Given the description of an element on the screen output the (x, y) to click on. 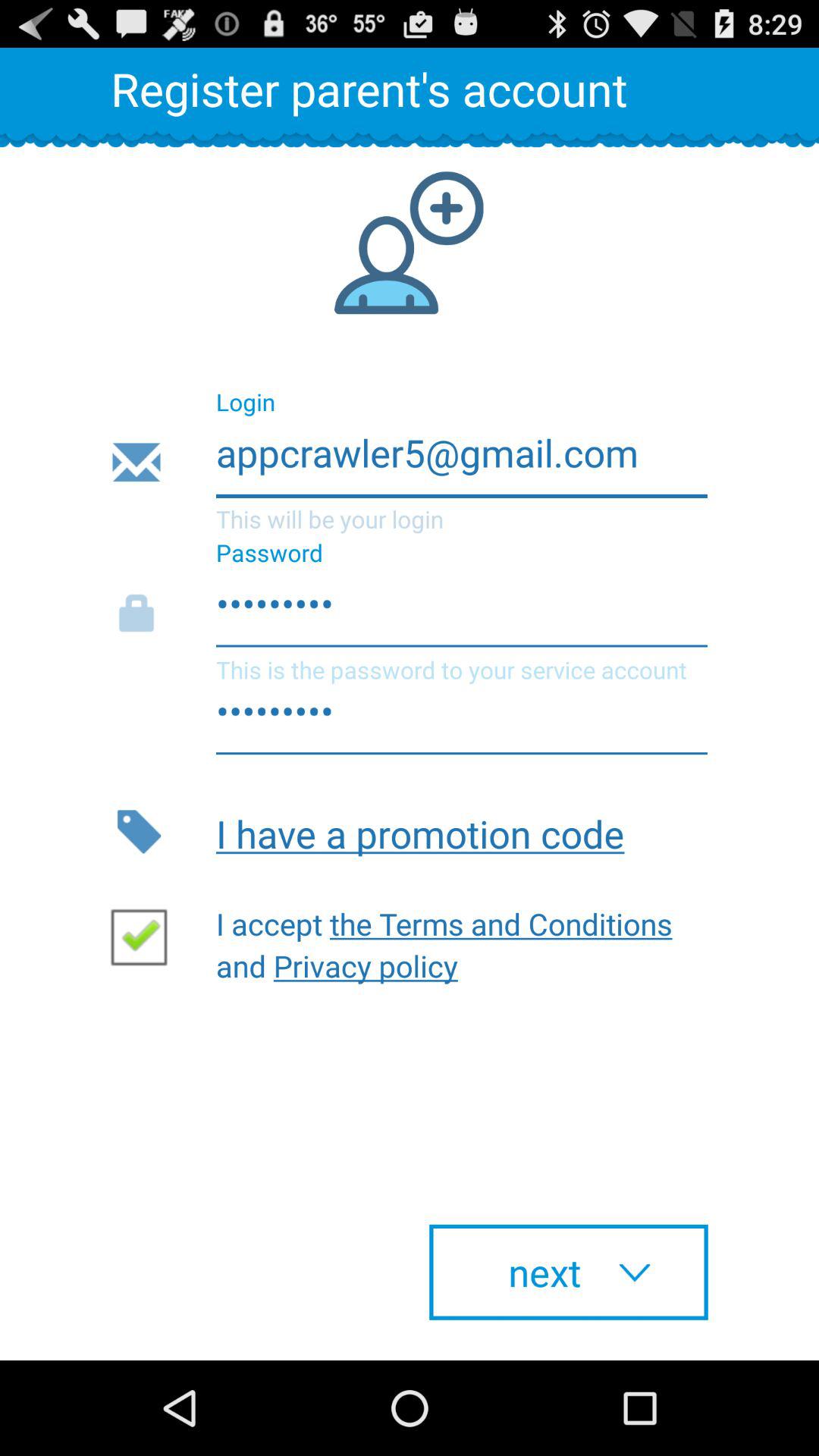
accept terms and conditions (145, 936)
